Given the description of an element on the screen output the (x, y) to click on. 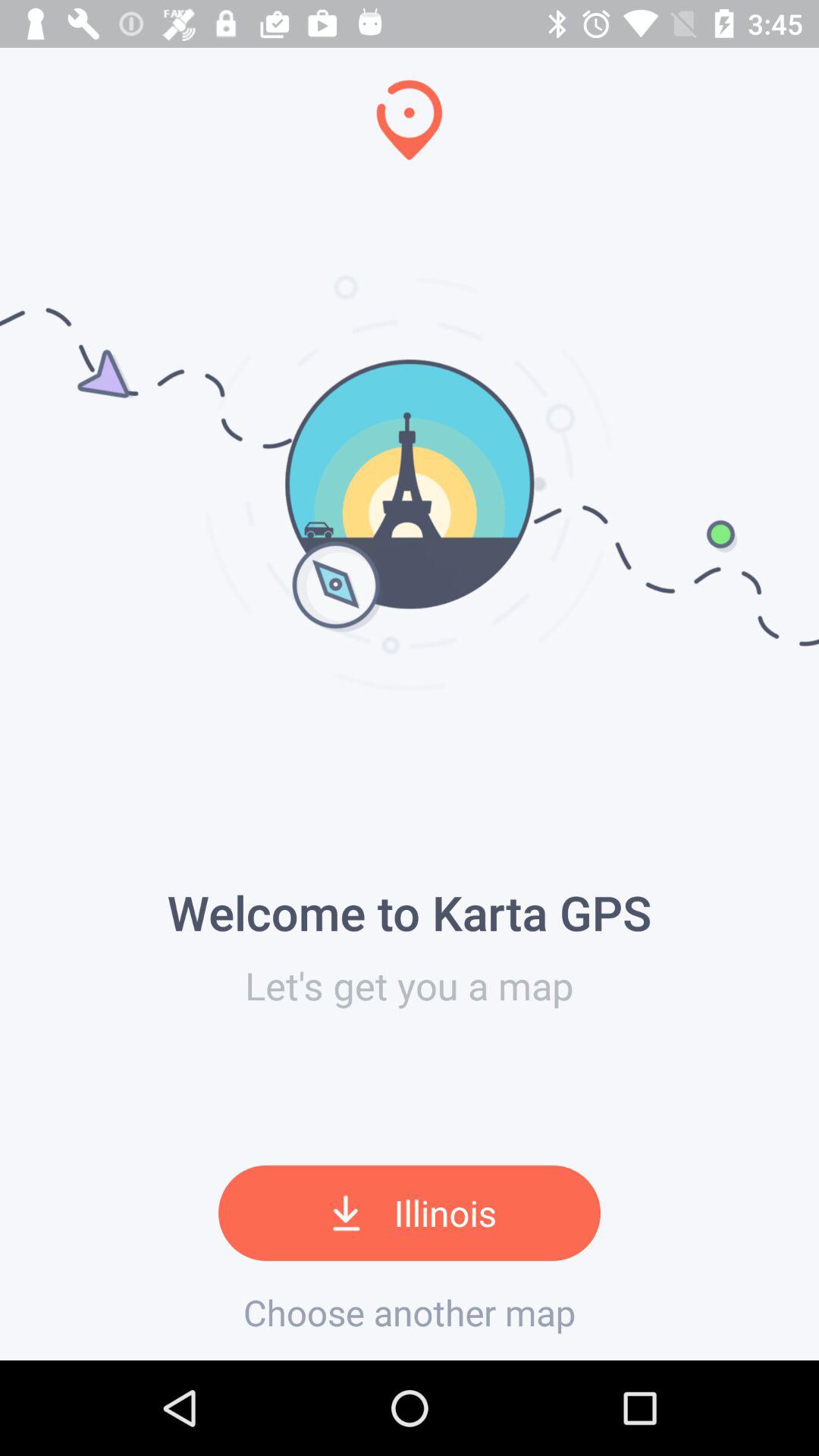
turn off the item to the left of the let s get icon (5, 680)
